Given the description of an element on the screen output the (x, y) to click on. 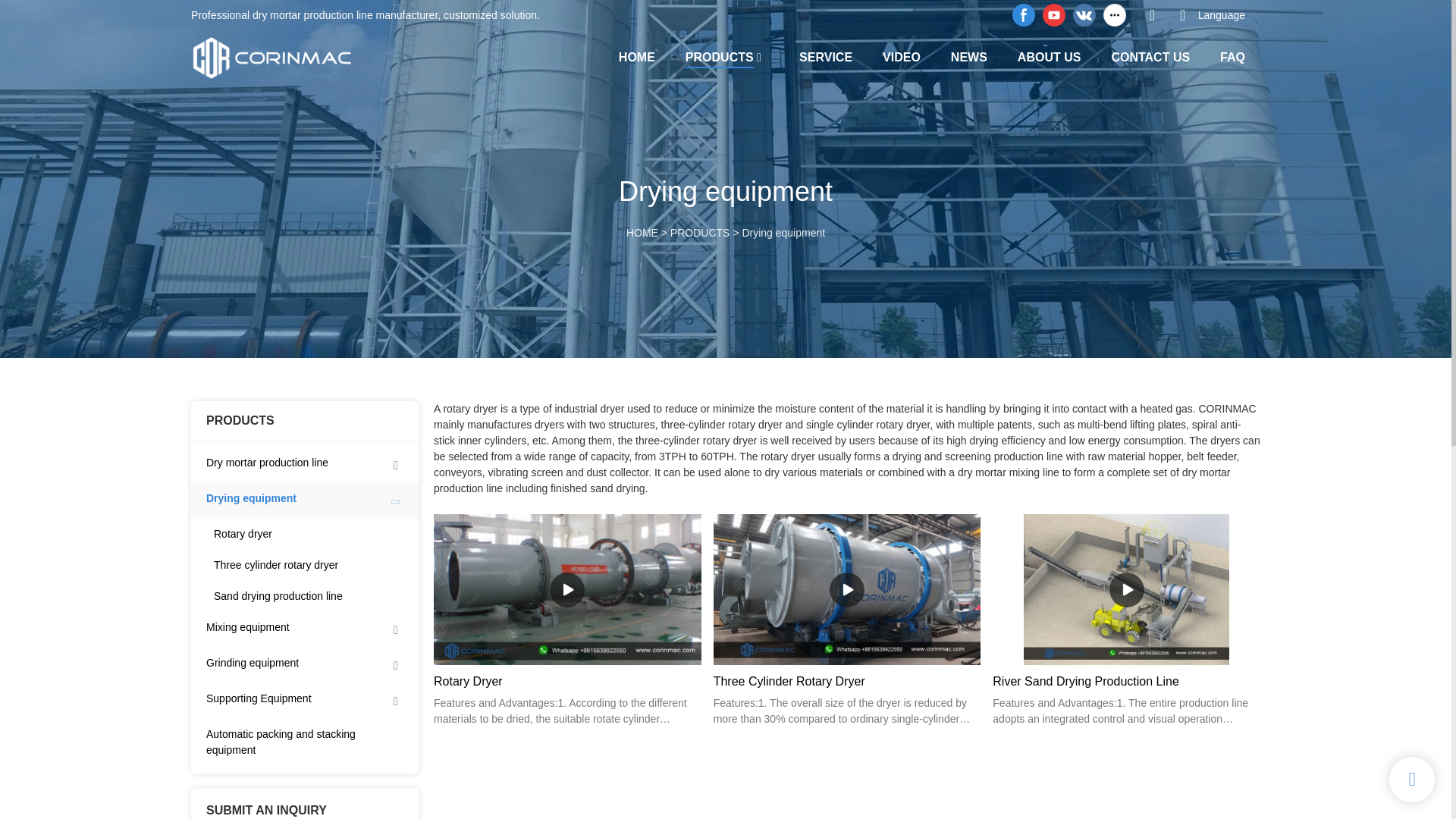
River Sand Drying Production Line (1126, 681)
Rotary Dryer (567, 681)
CONTACT US (1149, 56)
facebook (1024, 15)
SERVICE (825, 56)
HOME (636, 56)
vk (1083, 15)
NEWS (968, 56)
PRODUCTS (719, 57)
Three Cylinder Rotary Dryer (847, 681)
HOME (642, 232)
FAQ (1232, 56)
VIDEO (901, 56)
